Given the description of an element on the screen output the (x, y) to click on. 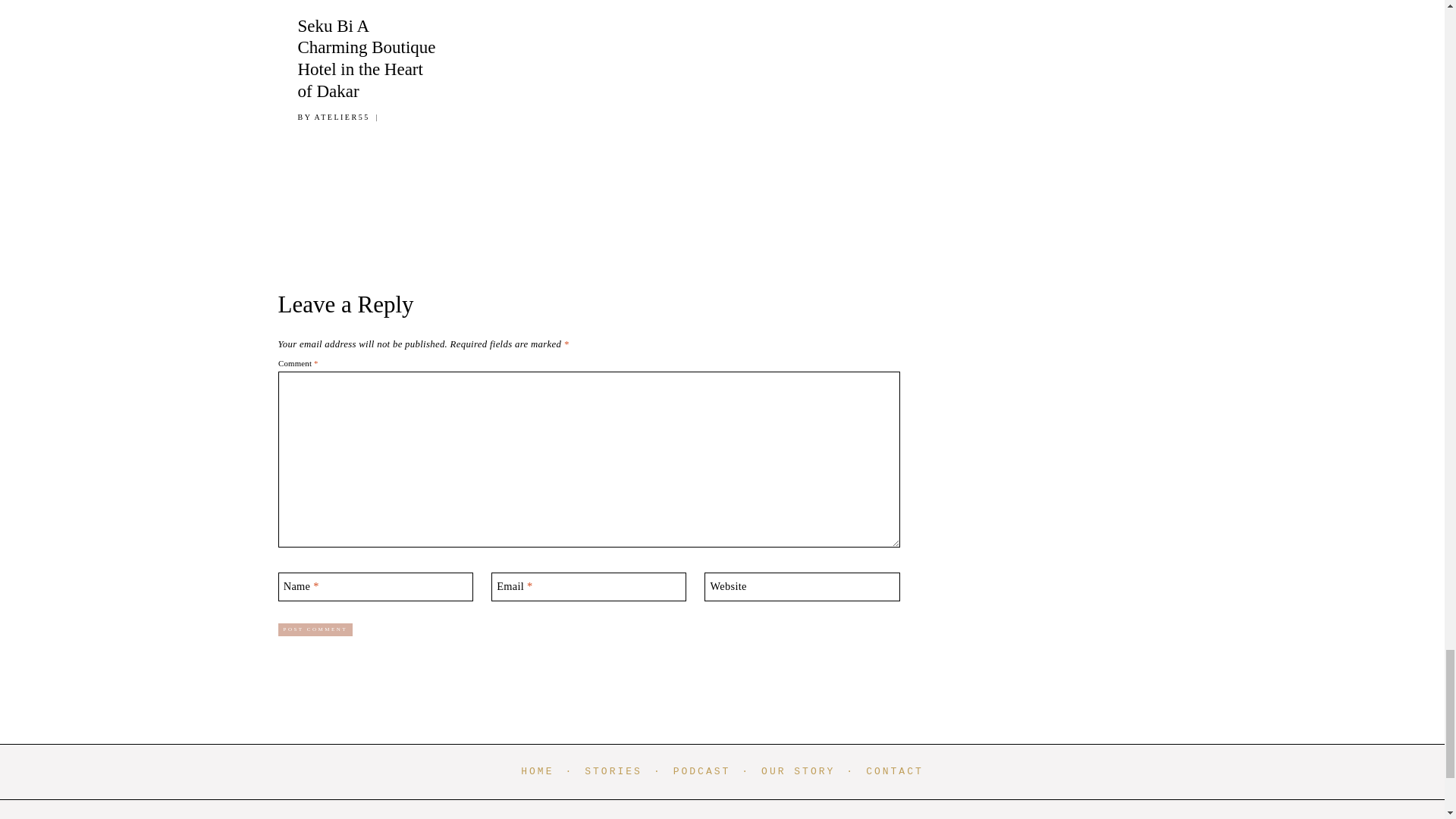
Post Comment (315, 629)
